Given the description of an element on the screen output the (x, y) to click on. 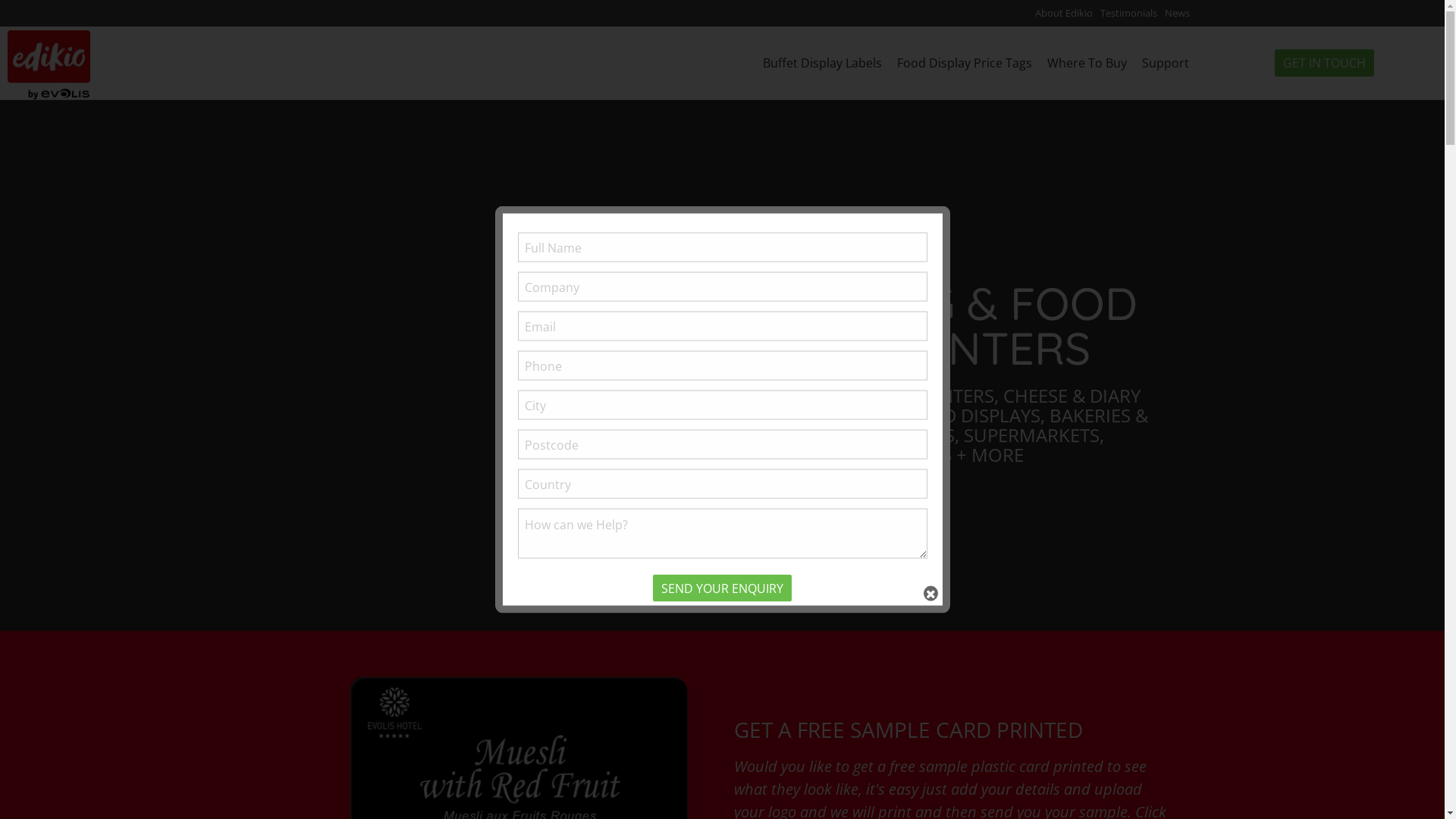
Food Display Price Tags Element type: text (963, 62)
Support Element type: text (1165, 62)
Testimonials Element type: text (1128, 13)
News Element type: text (1177, 13)
About Edikio Element type: text (1063, 13)
Where To Buy Element type: text (1085, 62)
GET IN TOUCH Element type: text (1324, 62)
Buffet Display Labels Element type: text (822, 62)
SEND YOUR ENQUIRY Element type: text (721, 588)
